Given the description of an element on the screen output the (x, y) to click on. 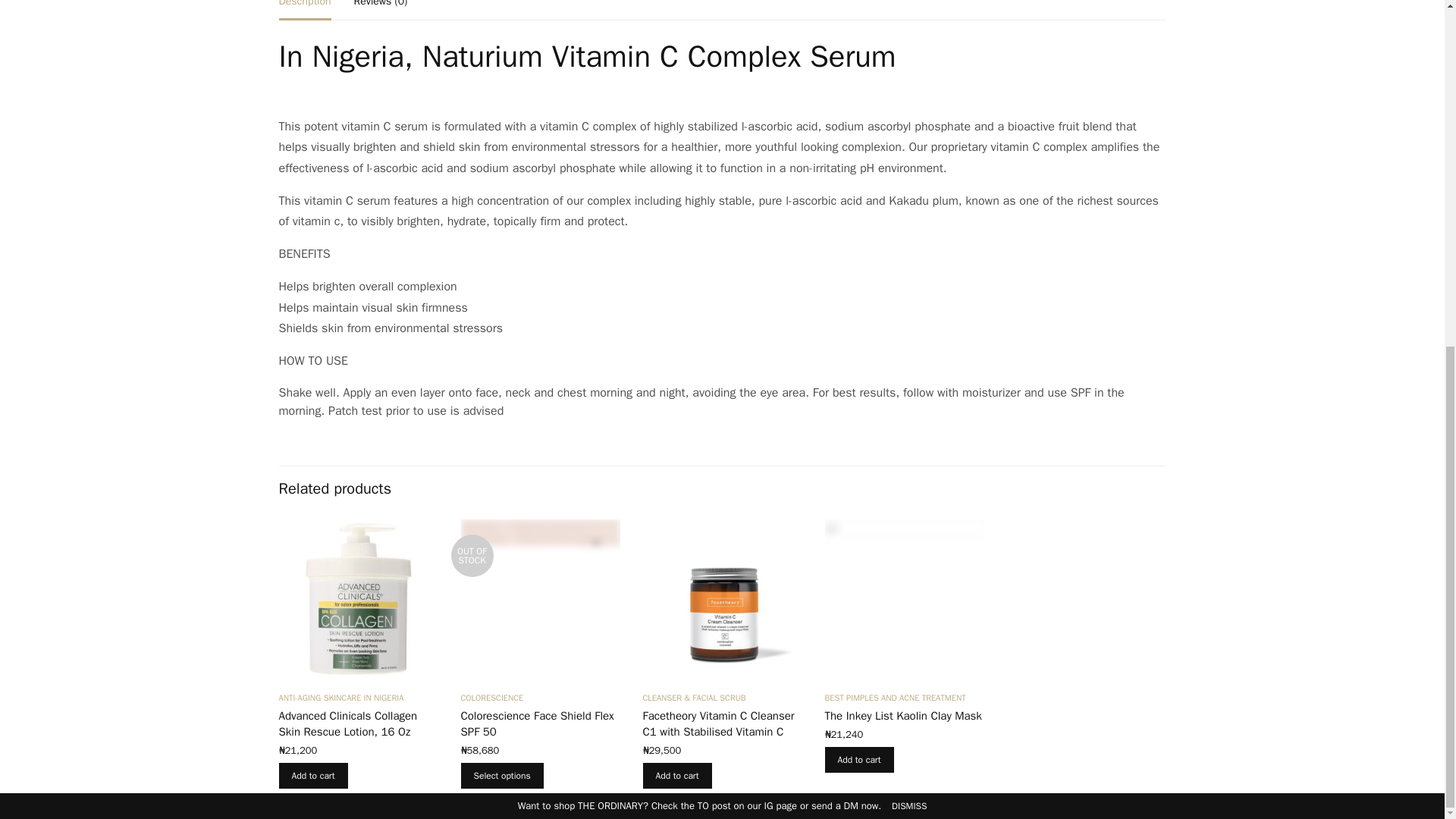
Advanced Clinicals Collagen Skin Rescue Lotion, 16 Oz (348, 723)
Advanced Clinicals Collagen Skin Rescue Lotion, 16 Oz (358, 598)
The Inkey List Kaolin Clay Mask (904, 598)
Facetheory Vitamin C Cleanser C1 with Stabilised Vitamin C (722, 598)
Colorescience Face Shield Flex SPF 50 (537, 723)
Facetheory Vitamin C Cleanser C1 with Stabilised Vitamin C (718, 723)
Colorescience Face Shield Flex SPF 50 (540, 598)
The Inkey List Kaolin Clay Mask (903, 715)
